Given the description of an element on the screen output the (x, y) to click on. 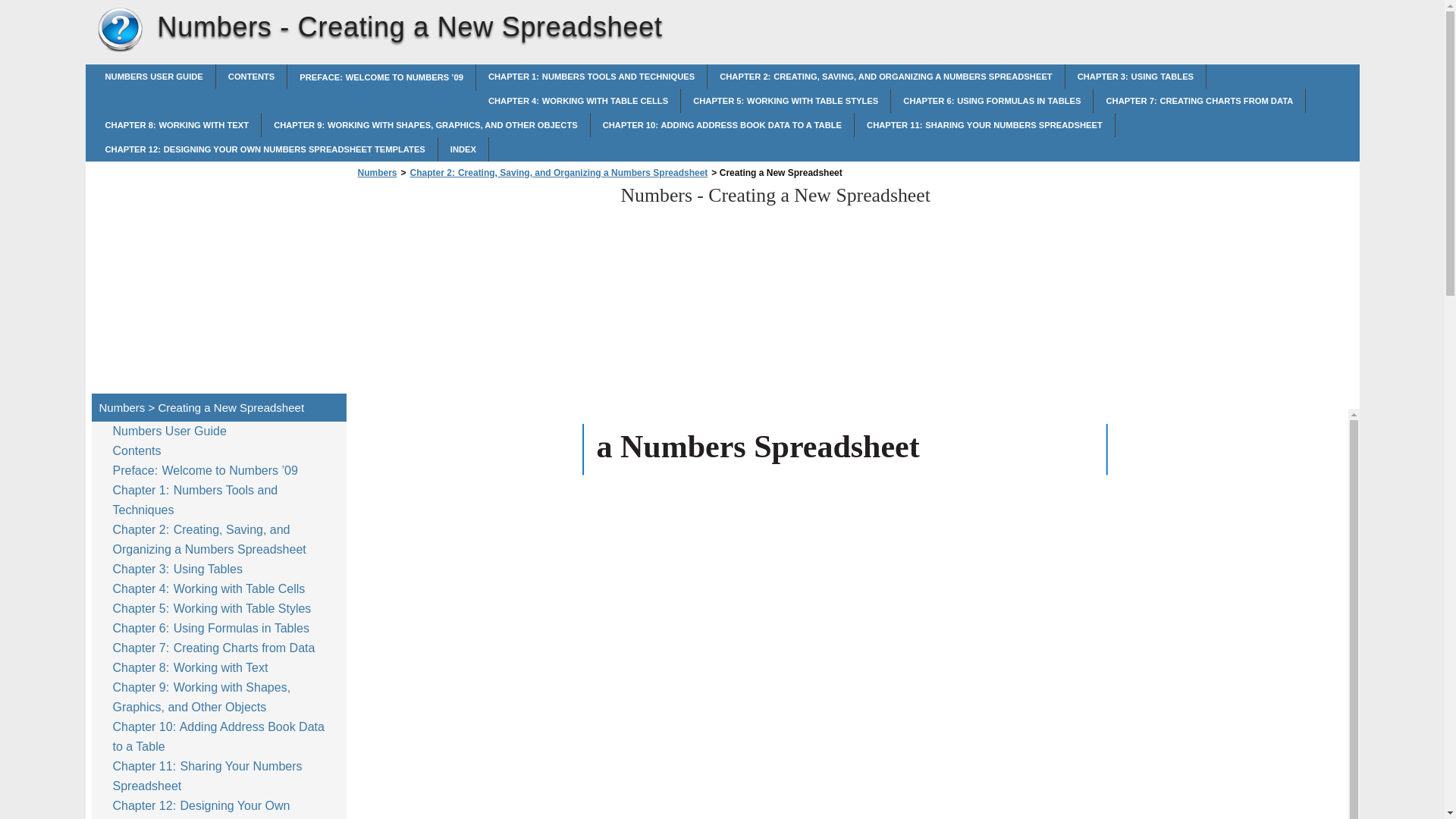
Numbers (376, 172)
CONTENTS (250, 76)
Advertisement (480, 290)
Contents (140, 451)
INDEX (462, 149)
Advertisement (218, 274)
